Given the description of an element on the screen output the (x, y) to click on. 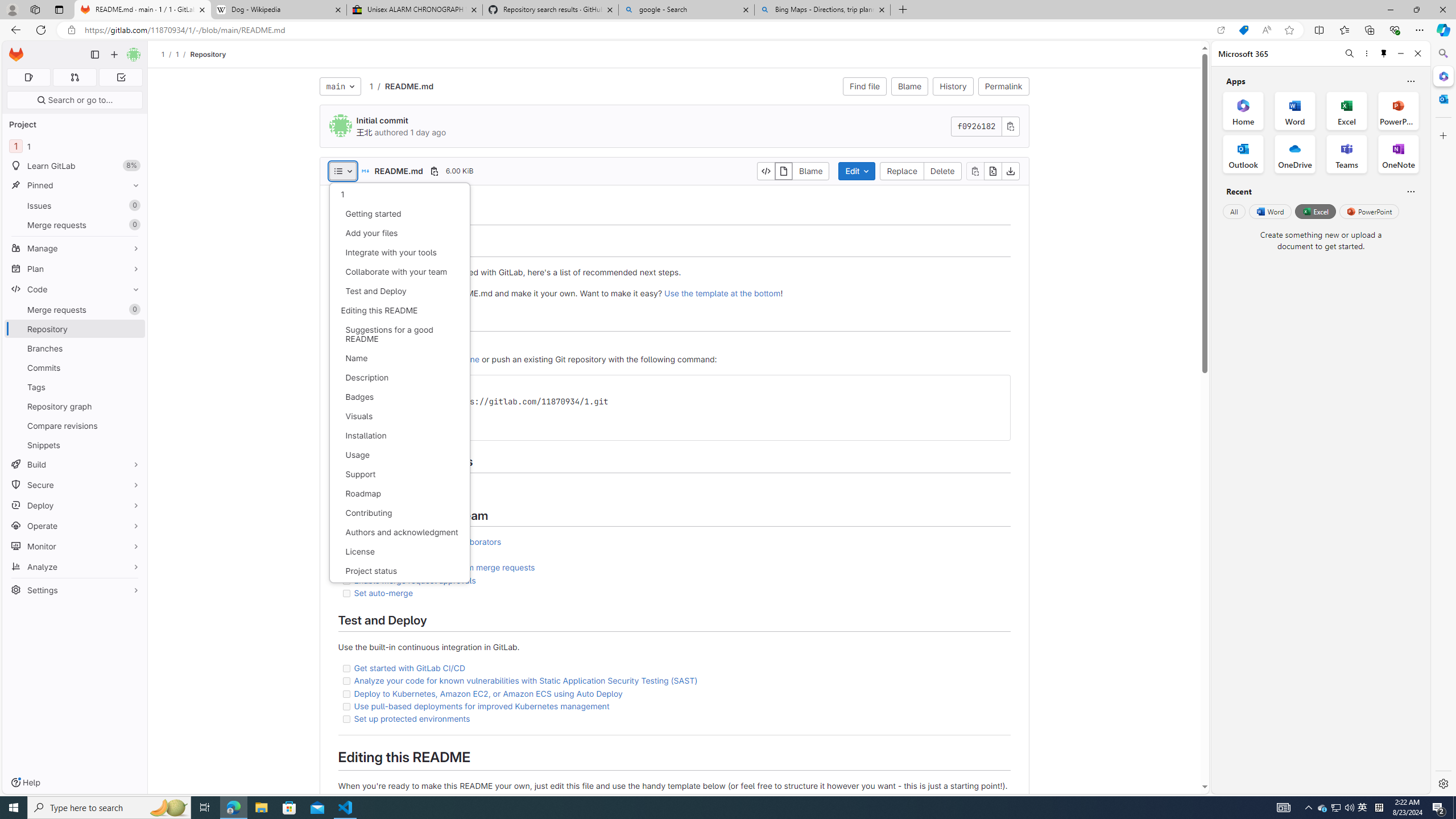
Open in app (1220, 29)
Authors and acknowledgment (399, 532)
Installation (399, 435)
Invite team members and collaborators (427, 542)
Editing this README (399, 310)
Collaborate with your team (399, 271)
Add files using the command line (416, 359)
Pin Repository graph (132, 406)
Teams Office App (1346, 154)
Set up project integrations (673, 487)
Add your files (399, 233)
